Given the description of an element on the screen output the (x, y) to click on. 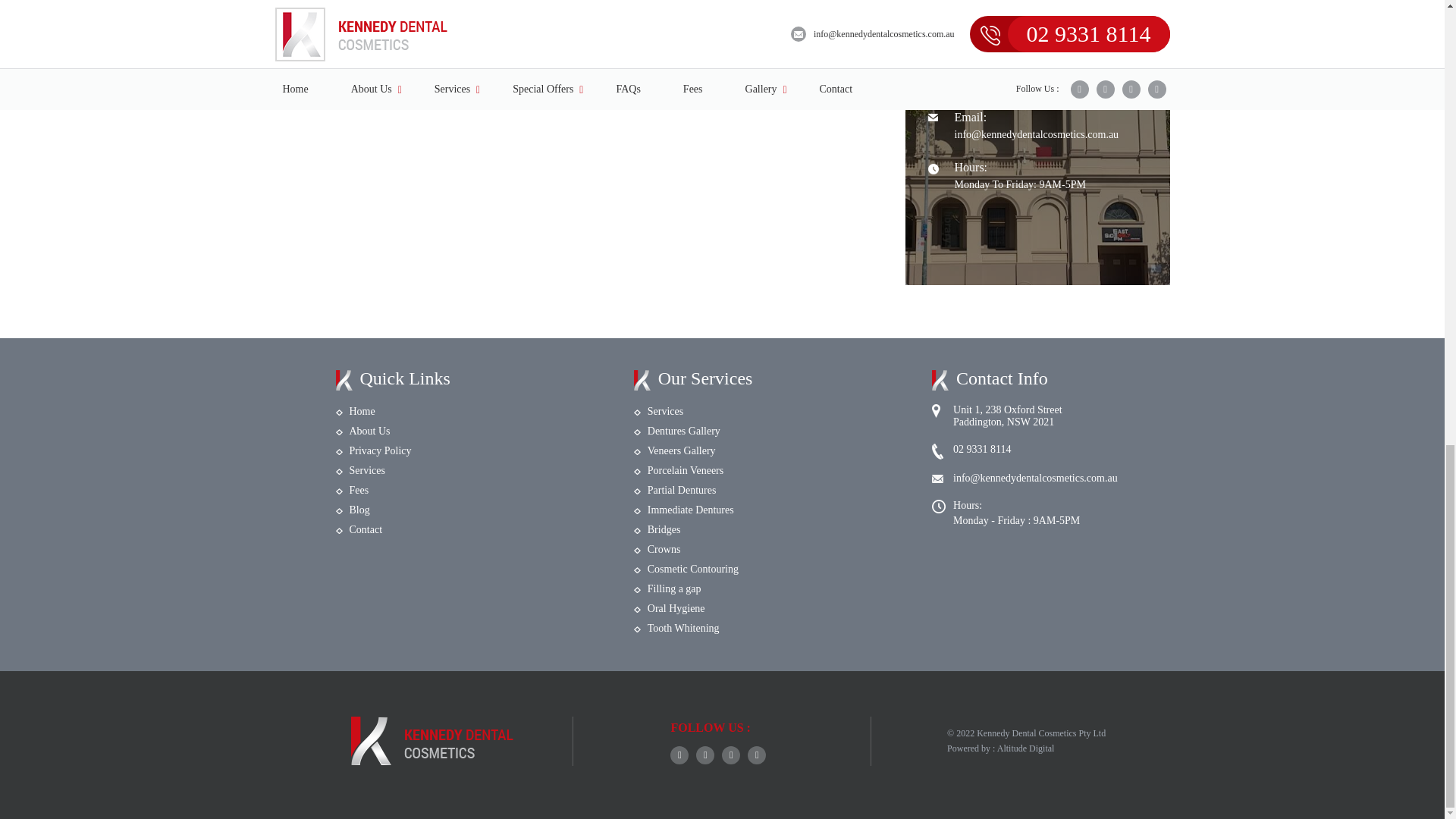
Services (366, 470)
Fees (358, 490)
logo (431, 740)
Privacy Policy (379, 450)
Blog (359, 509)
About Us (369, 430)
Home (361, 410)
Contact (365, 529)
02 9331 8114 (994, 80)
